Given the description of an element on the screen output the (x, y) to click on. 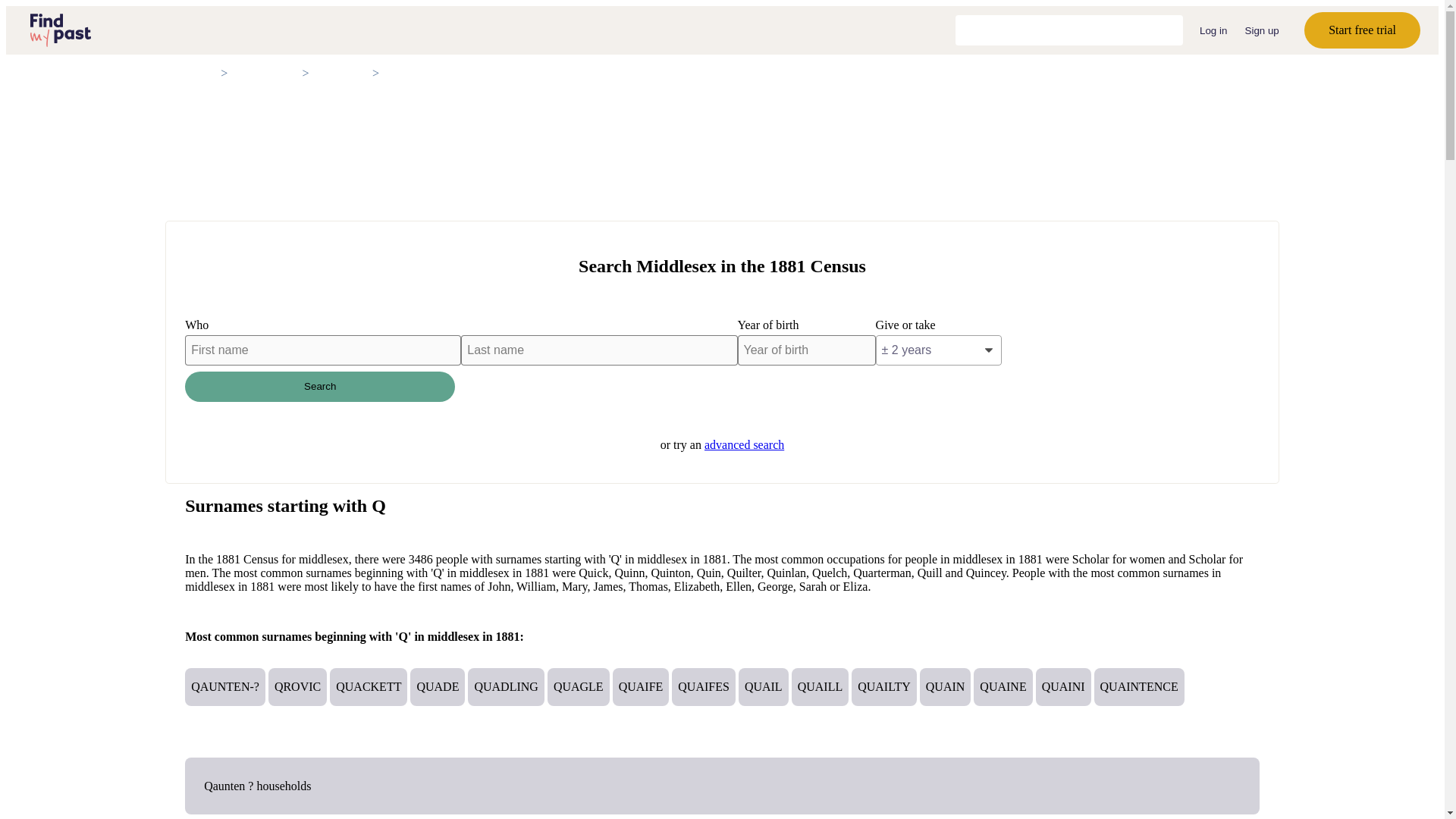
QUAILTY (884, 686)
QUAINI (1062, 686)
QUAILL (820, 686)
Home (202, 72)
Search (319, 386)
QROVIC (296, 686)
QUAINTENCE (1139, 686)
Log in (1213, 29)
QAUNTEN-? (224, 686)
QUAGLE (578, 686)
QUADLING (505, 686)
QUAIL (763, 686)
QUACKETT (368, 686)
QUAIFE (640, 686)
Middlesex (340, 72)
